Given the description of an element on the screen output the (x, y) to click on. 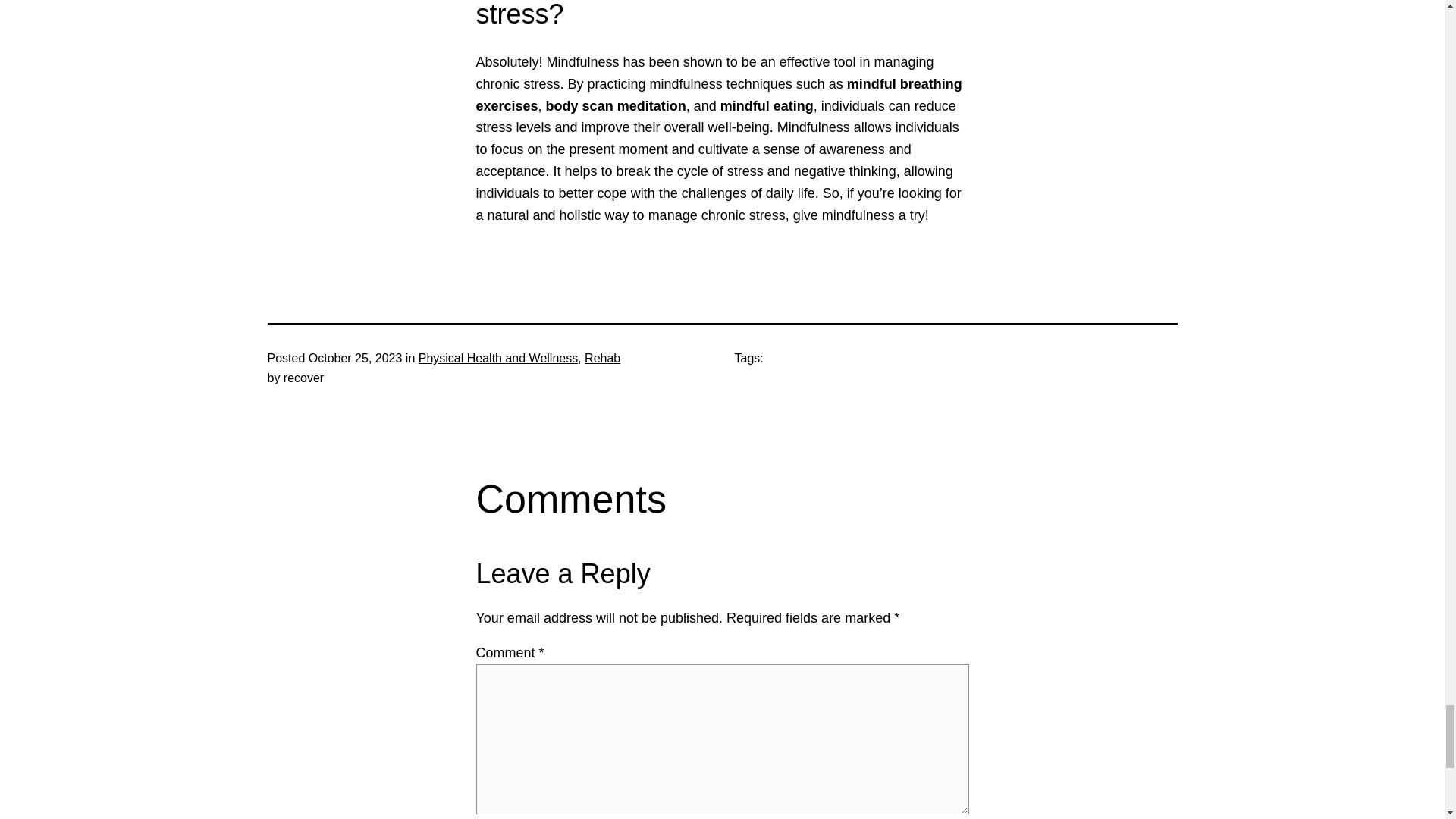
Rehab (602, 358)
Physical Health and Wellness (498, 358)
